Given the description of an element on the screen output the (x, y) to click on. 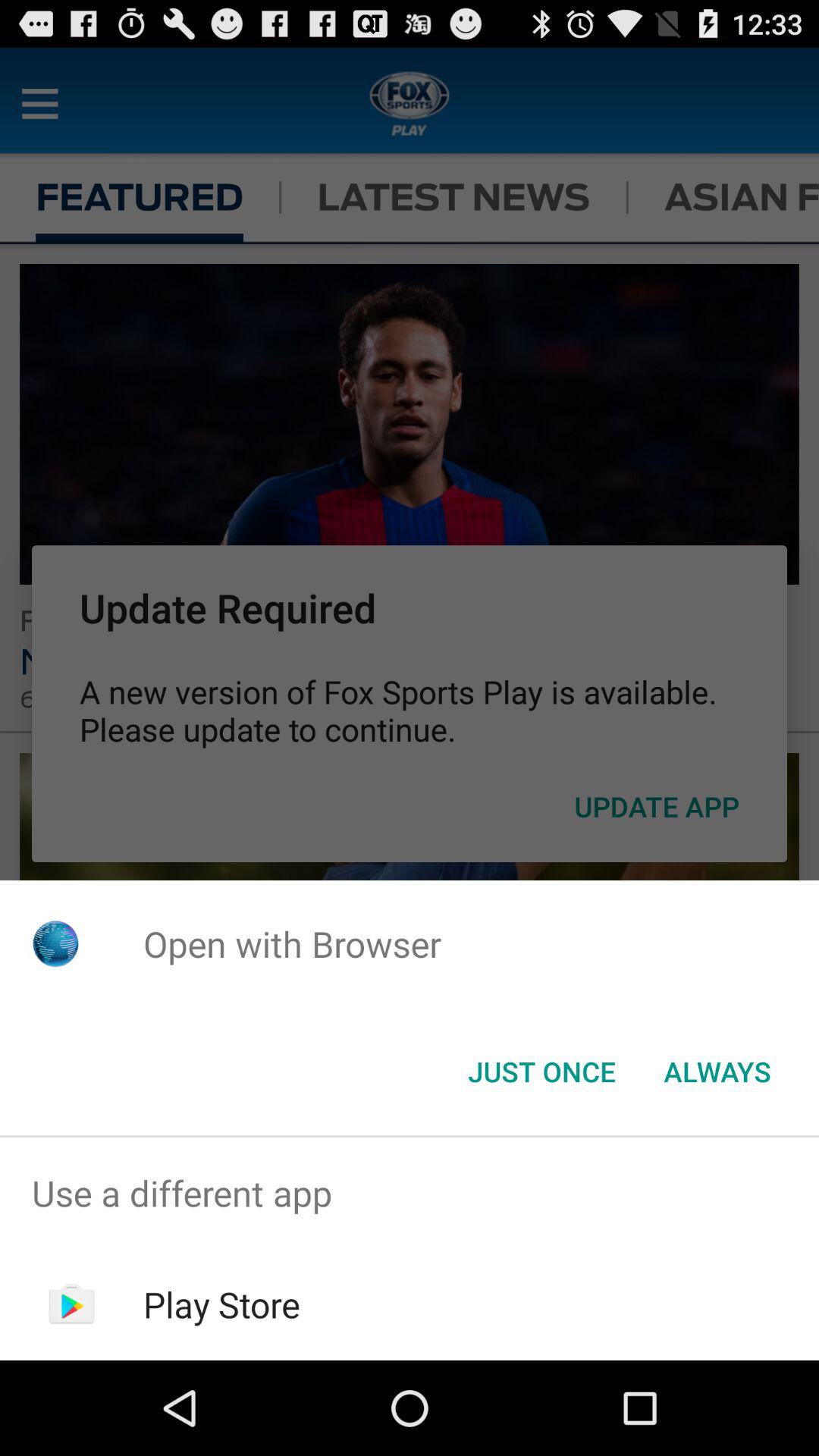
turn off app below the open with browser (717, 1071)
